Given the description of an element on the screen output the (x, y) to click on. 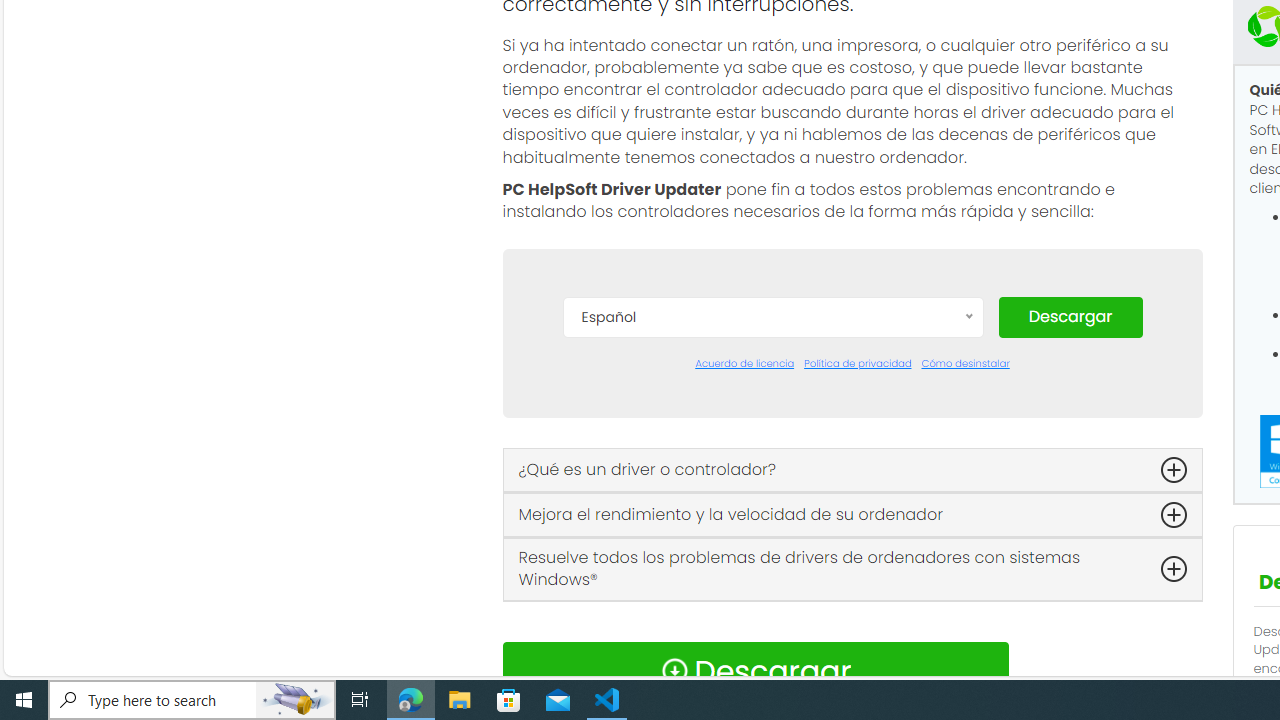
Nederlands (772, 621)
